Given the description of an element on the screen output the (x, y) to click on. 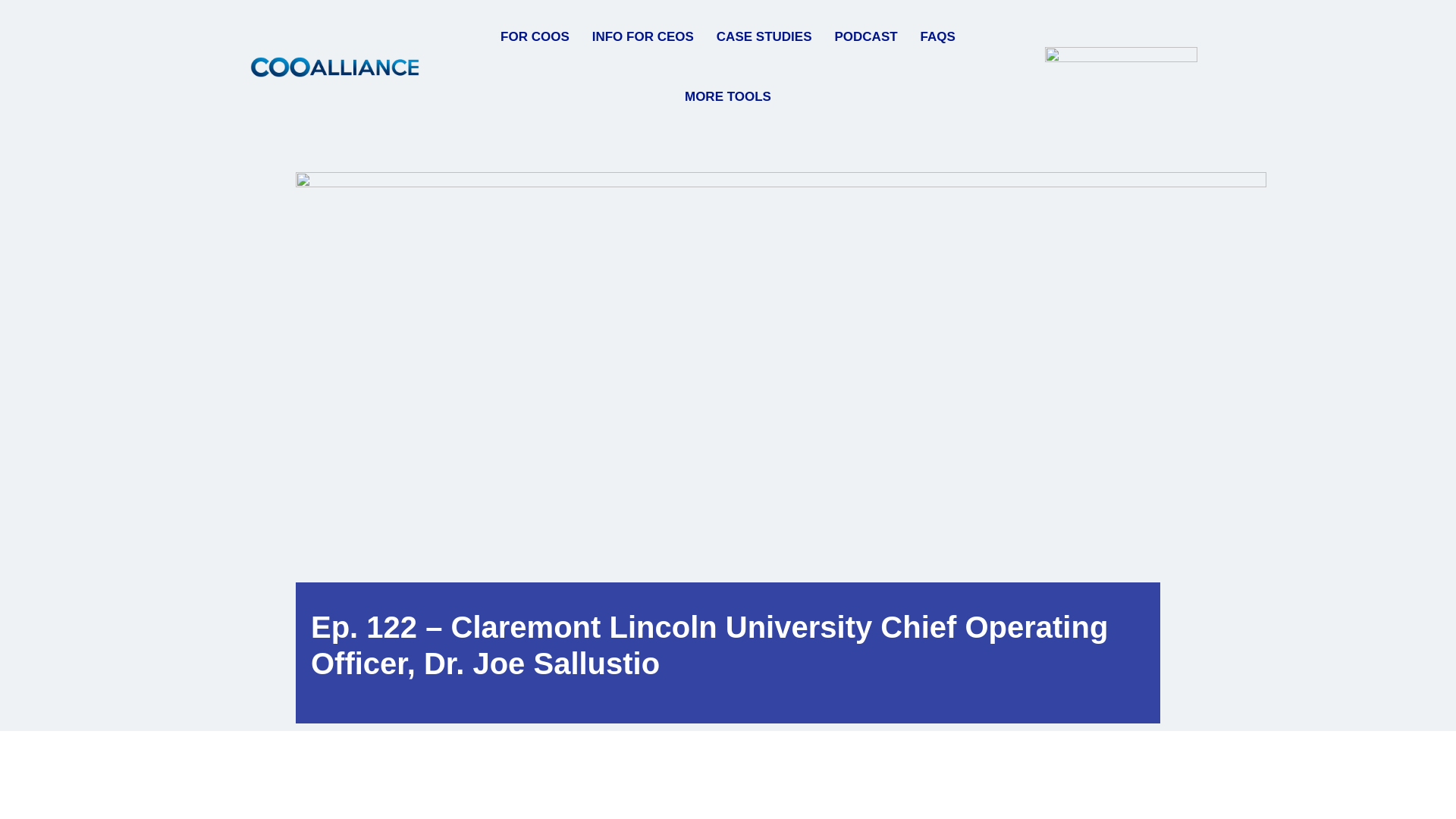
INFO FOR CEOS (642, 37)
PODCAST (865, 37)
MORE TOOLS (727, 97)
FOR COOS (534, 37)
CASE STUDIES (764, 37)
FAQS (937, 37)
